Given the description of an element on the screen output the (x, y) to click on. 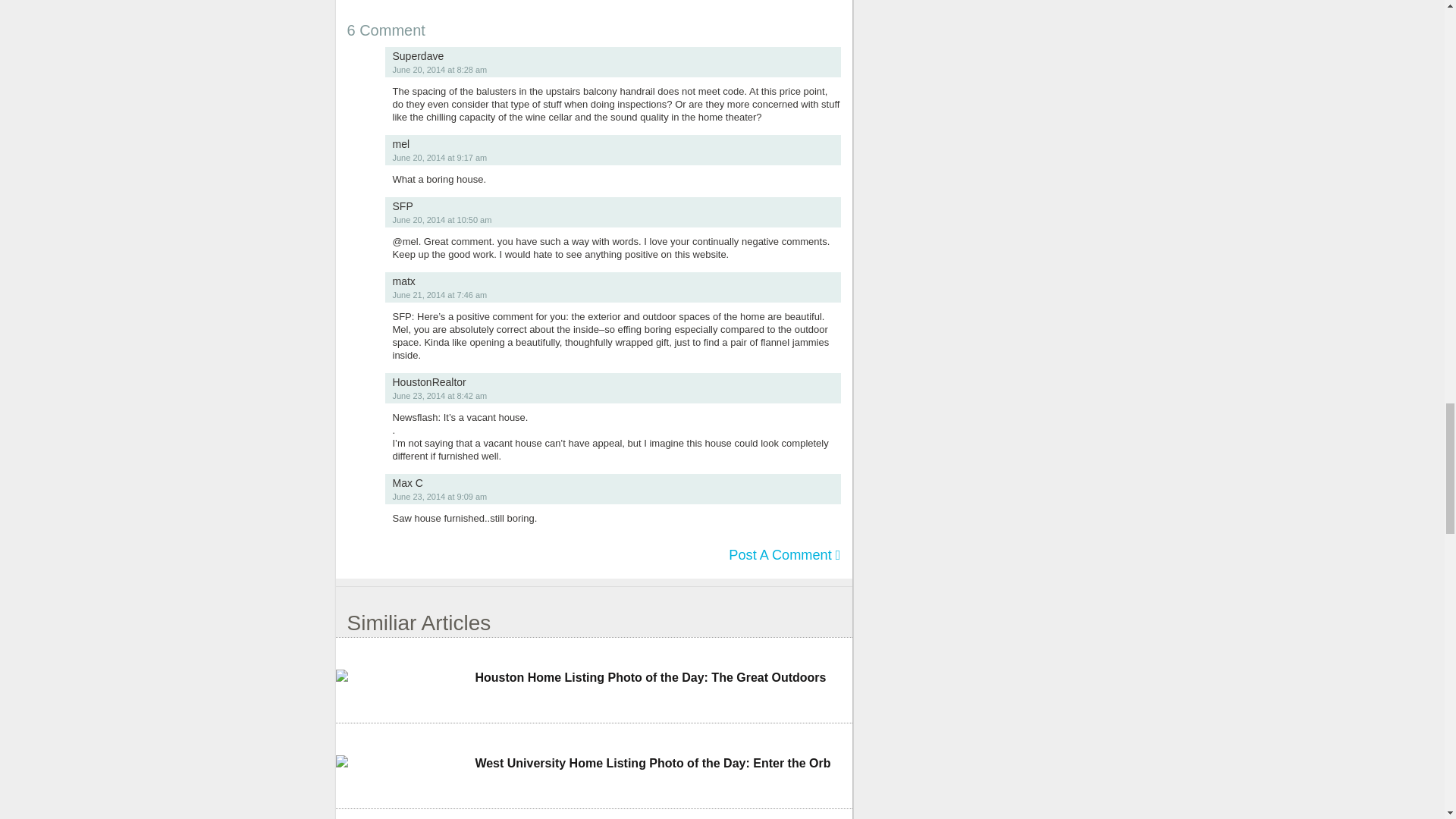
June 20, 2014 at 9:17 am (440, 157)
June 20, 2014 at 8:28 am (440, 69)
Post A Comment (784, 554)
June 23, 2014 at 8:42 am (440, 395)
June 21, 2014 at 7:46 am (440, 294)
West University Home Listing Photo of the Day: Enter the Orb (662, 763)
June 23, 2014 at 9:09 am (440, 496)
Houston Home Listing Photo of the Day: The Great Outdoors (662, 677)
June 20, 2014 at 10:50 am (442, 219)
